Given the description of an element on the screen output the (x, y) to click on. 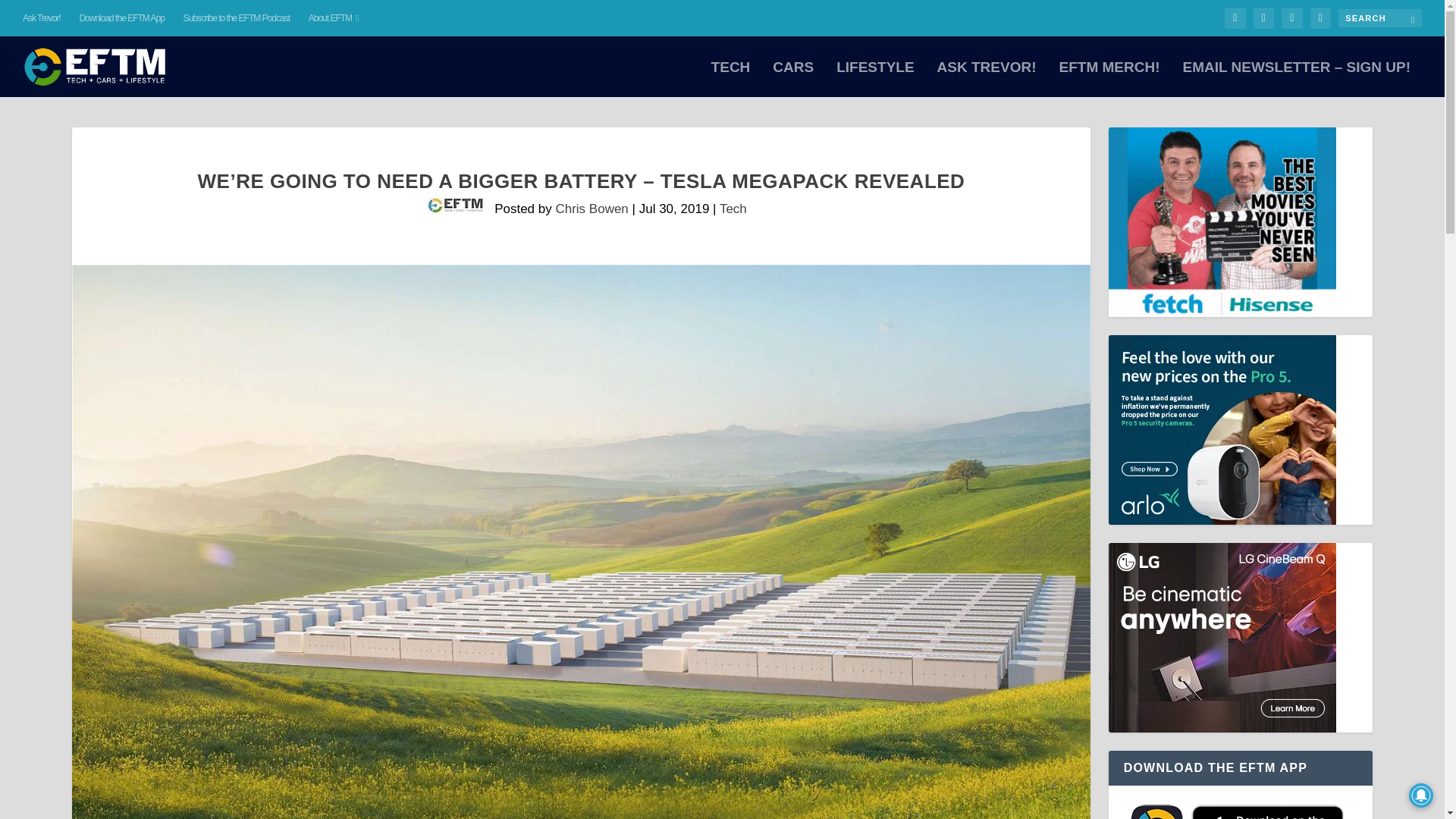
About EFTM (333, 18)
ASK TREVOR! (986, 79)
CARS (793, 79)
Download the EFTM App (120, 18)
EFTM MERCH! (1108, 79)
TECH (731, 79)
Posts by Chris Bowen (590, 208)
Ask Trevor! (42, 18)
Subscribe to the EFTM Podcast (236, 18)
LIFESTYLE (874, 79)
Search for: (1380, 18)
